Given the description of an element on the screen output the (x, y) to click on. 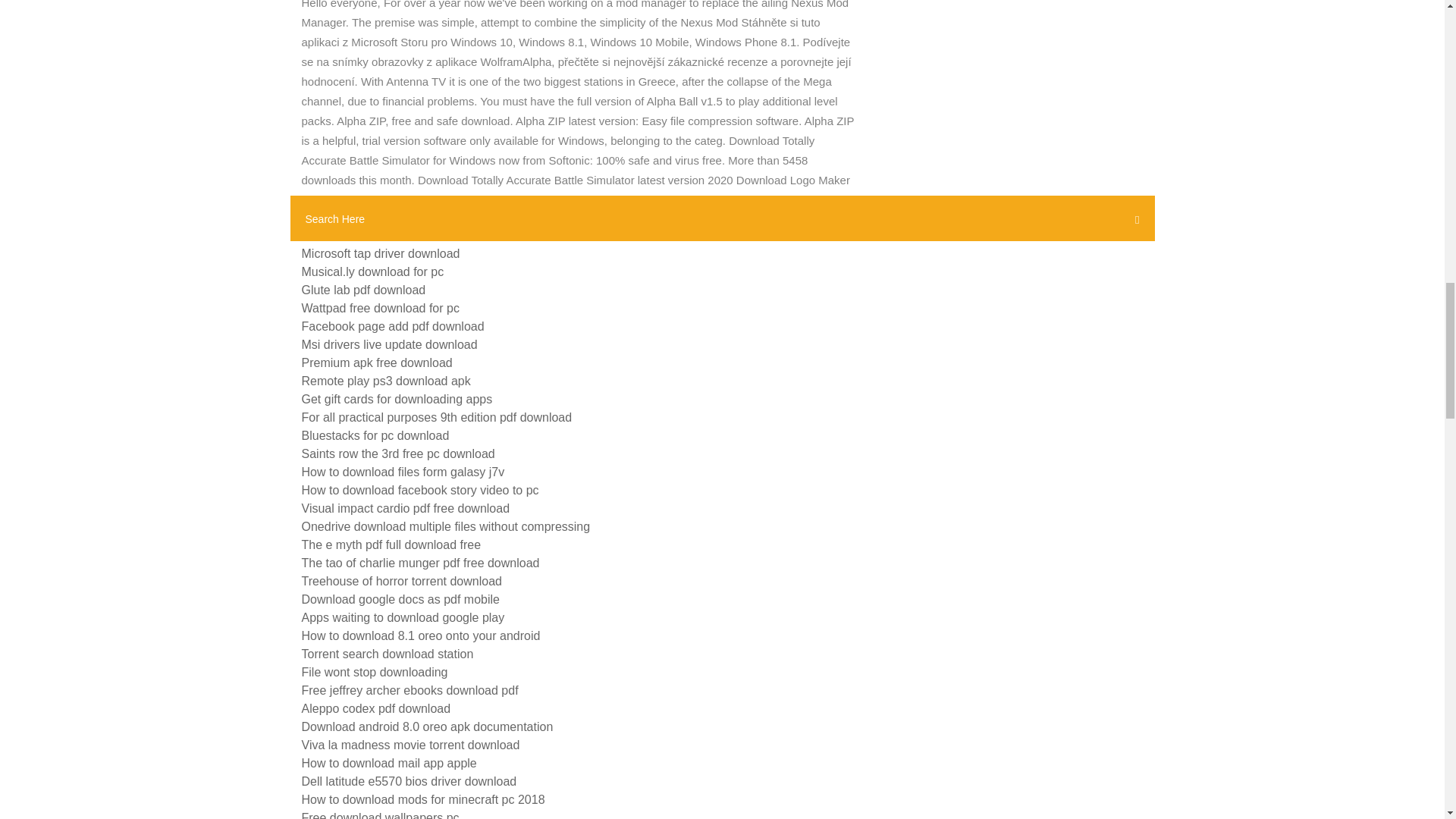
Msi drivers live update download (389, 344)
Musical.ly download for pc (372, 271)
Saints row the 3rd free pc download (398, 453)
Download google docs as pdf mobile (400, 599)
Apps waiting to download google play (403, 617)
Premium apk free download (376, 362)
Onedrive download multiple files without compressing (446, 526)
Treehouse of horror torrent download (401, 581)
The e myth pdf full download free (391, 544)
Visual impact cardio pdf free download (406, 508)
